Given the description of an element on the screen output the (x, y) to click on. 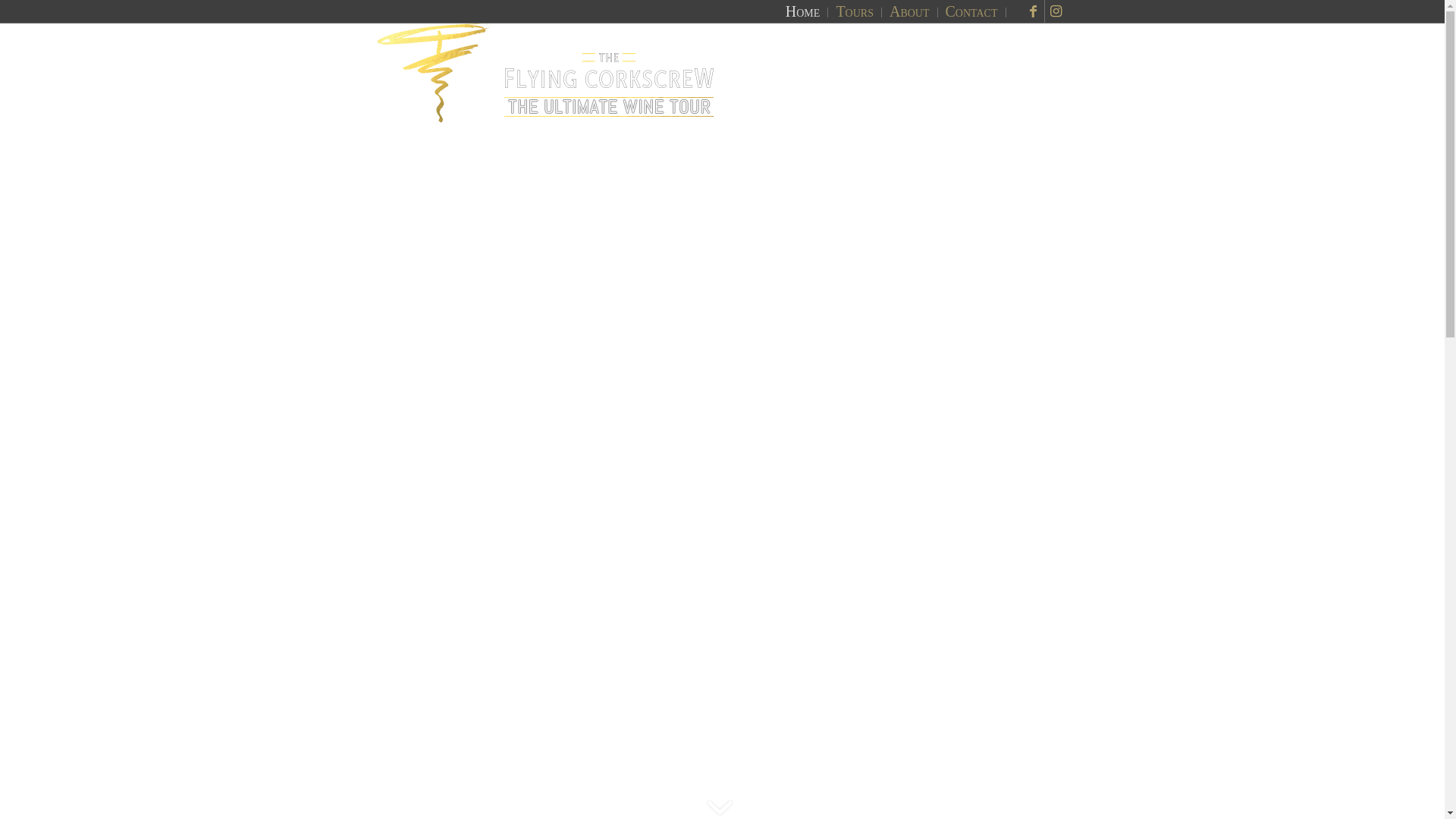
Facebook Element type: hover (1033, 11)
Instagram Element type: hover (1055, 11)
fc-logo-wine-tour Element type: hover (545, 73)
